Given the description of an element on the screen output the (x, y) to click on. 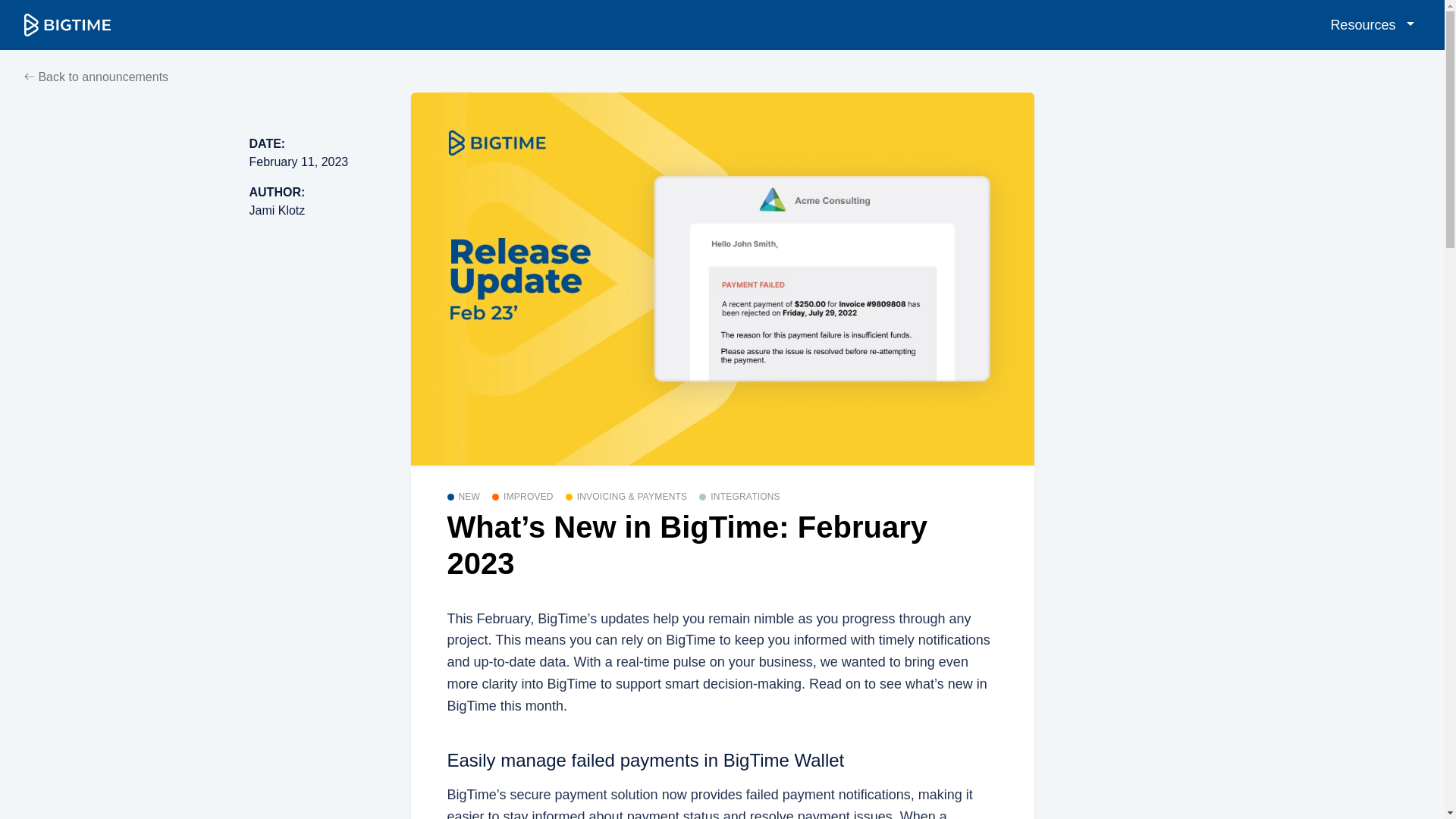
February 11, 2023 at 1:00am  (297, 161)
arrow-left (29, 76)
Resources (1372, 24)
arrow-left Back to announcements (96, 76)
